Given the description of an element on the screen output the (x, y) to click on. 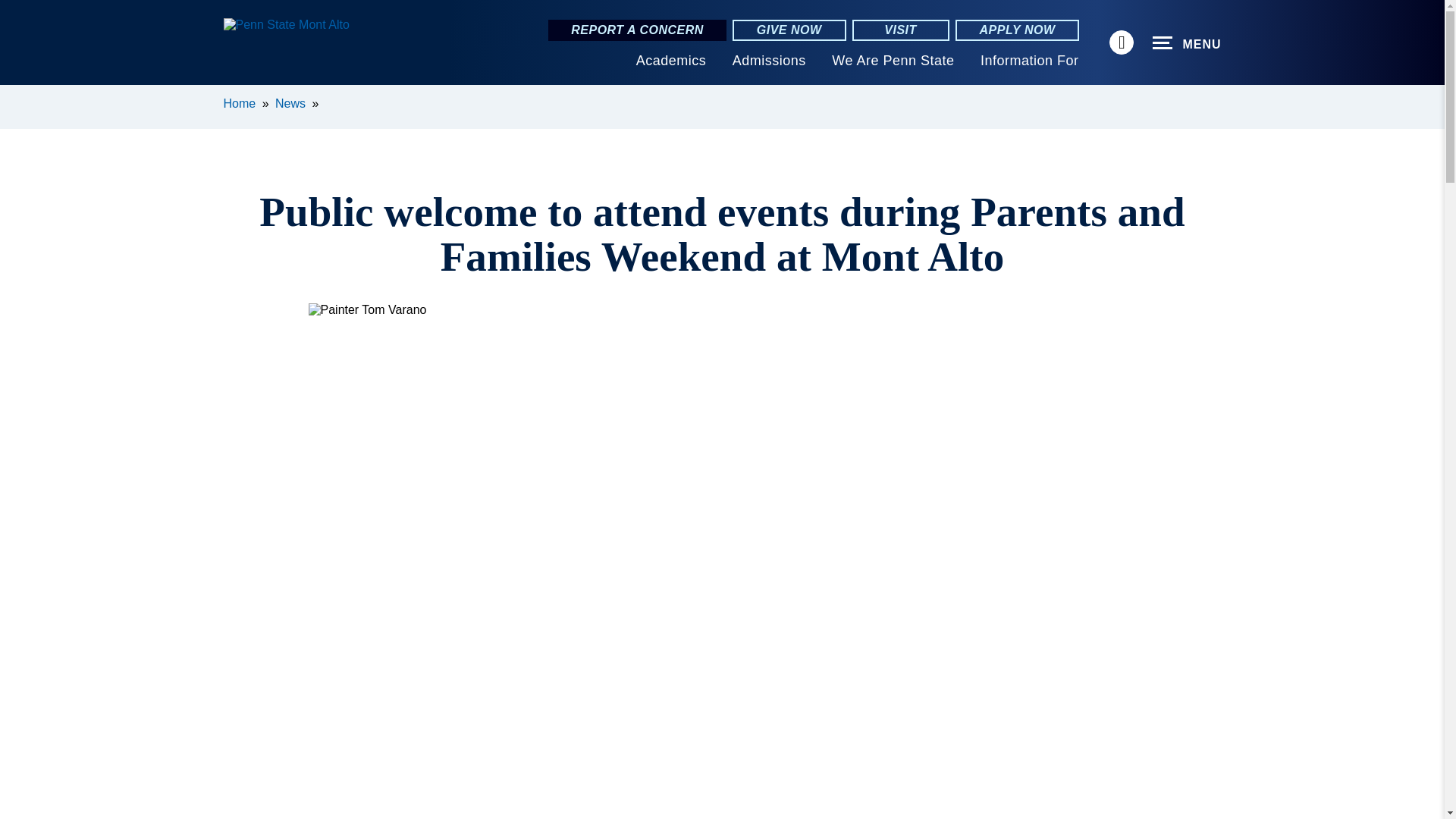
SKIP TO MAIN CONTENT (19, 95)
Academics (671, 60)
GIVE NOW (788, 29)
Information For (1028, 60)
Admissions (769, 60)
APPLY NOW (1017, 29)
We Are Penn State (892, 60)
MENU (1187, 43)
VISIT (900, 29)
